Given the description of an element on the screen output the (x, y) to click on. 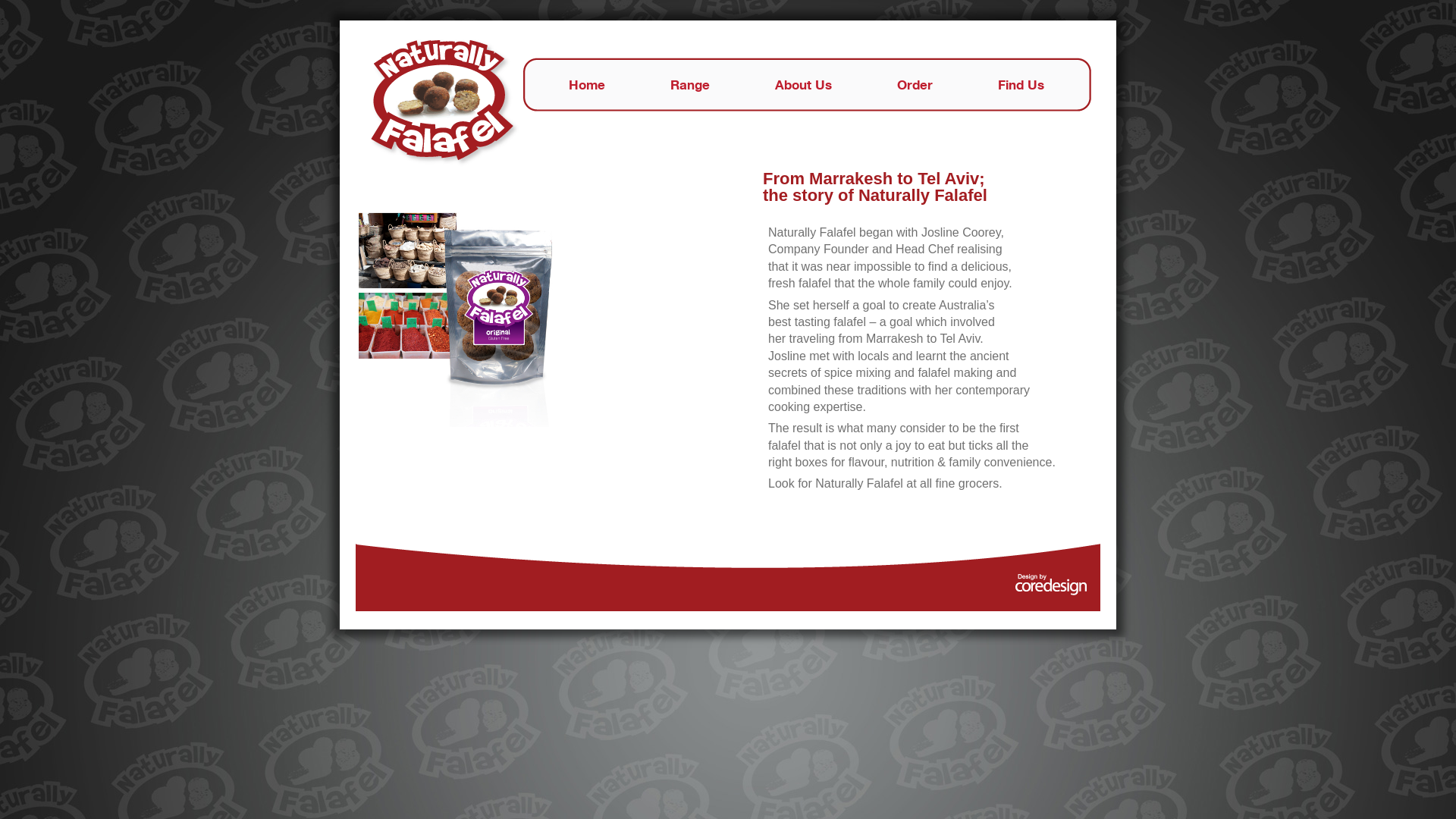
Range Element type: text (689, 84)
Home Element type: text (586, 84)
About Us Element type: text (803, 84)
Find Us Element type: text (1020, 84)
Naturally-Falafel_Website-Template_FINAL_About-Us-Left-image Element type: hover (458, 317)
Order Element type: text (914, 84)
